Given the description of an element on the screen output the (x, y) to click on. 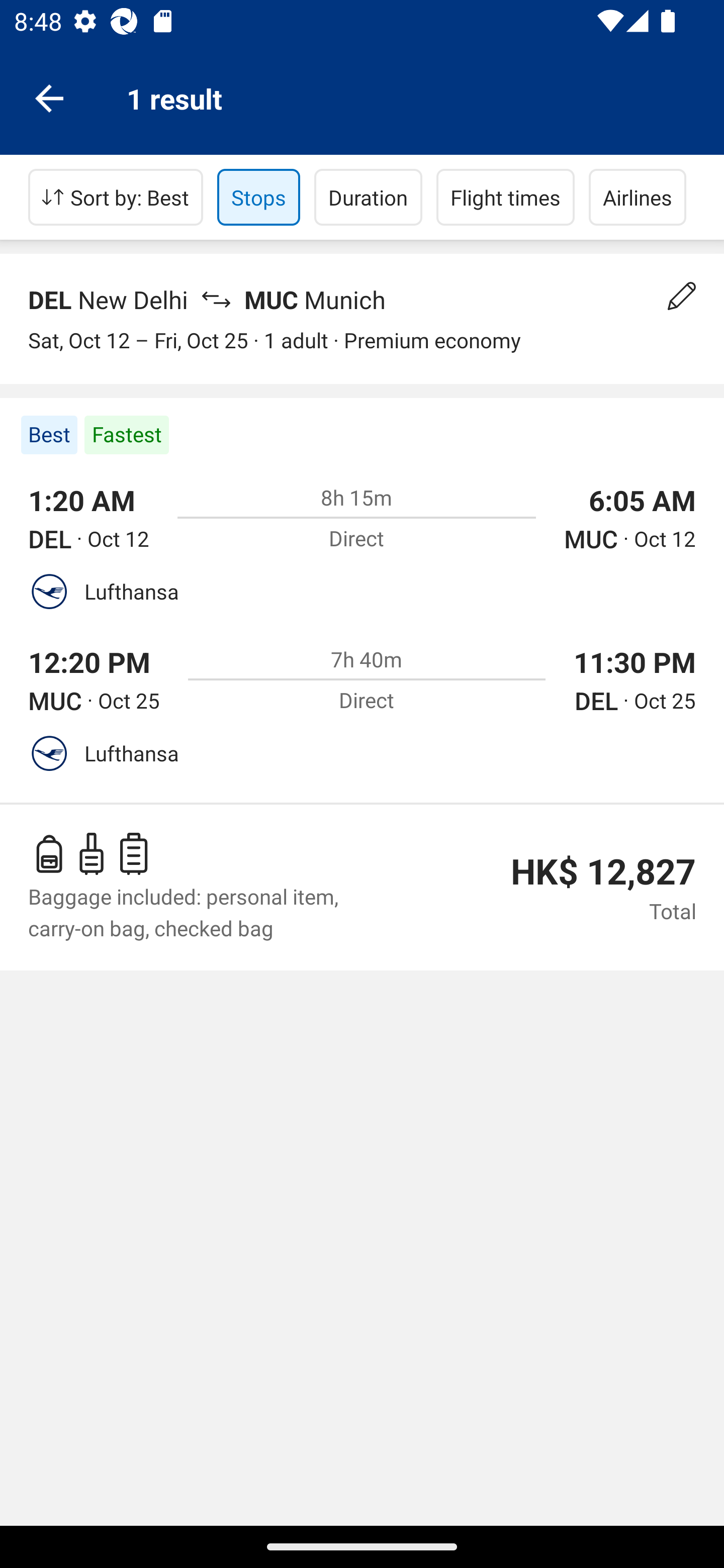
Navigate up (49, 97)
Sort by: Best (115, 197)
Stops (258, 197)
Duration (368, 197)
Flight times (505, 197)
Airlines (637, 197)
Change your search details (681, 296)
HK$ 12,827 (603, 871)
